Given the description of an element on the screen output the (x, y) to click on. 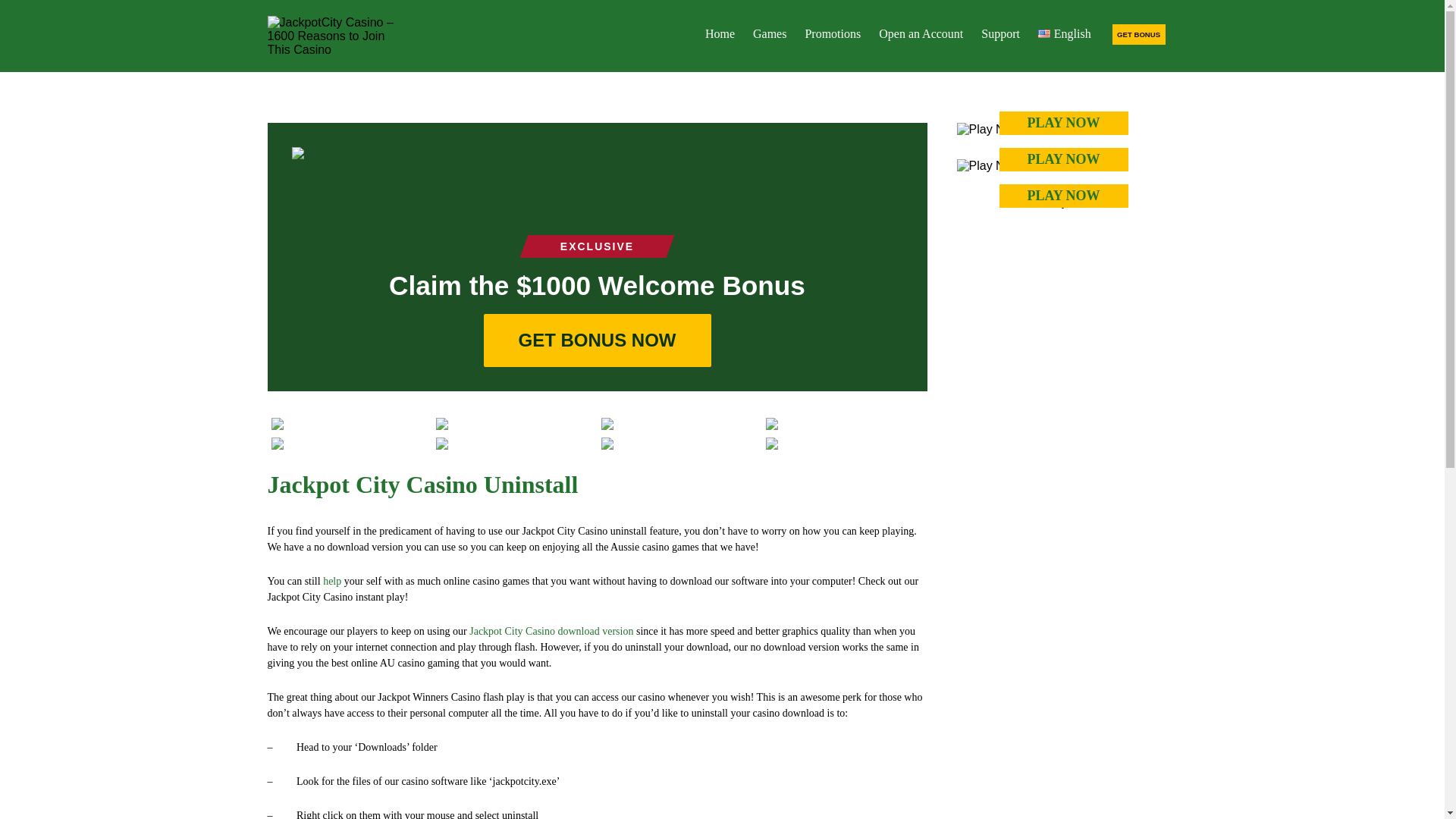
Home (719, 33)
English (1064, 33)
Games (769, 33)
Open an Account (920, 33)
Support (1000, 33)
Promotions (831, 33)
